Given the description of an element on the screen output the (x, y) to click on. 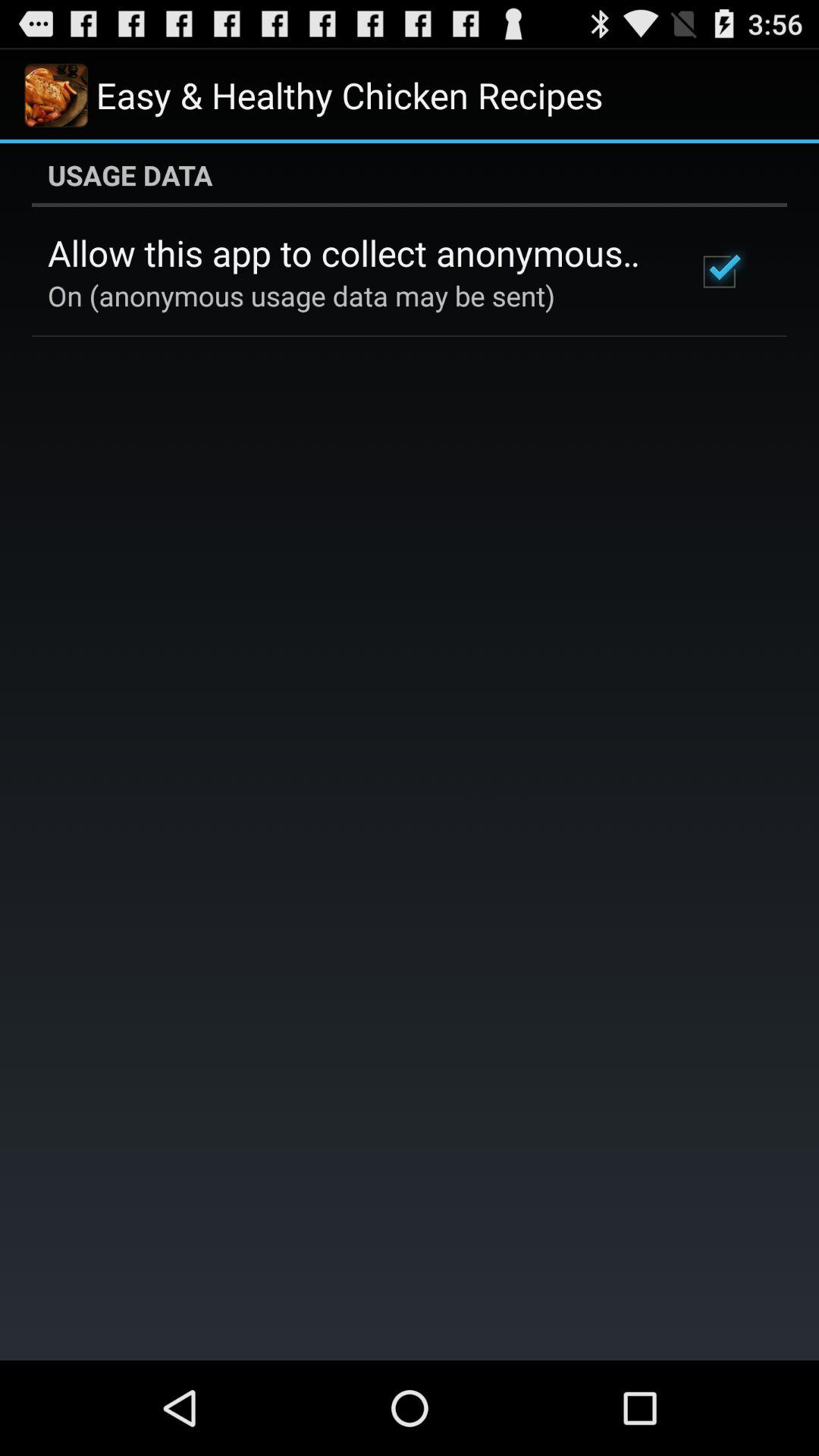
open the checkbox at the top right corner (719, 271)
